Given the description of an element on the screen output the (x, y) to click on. 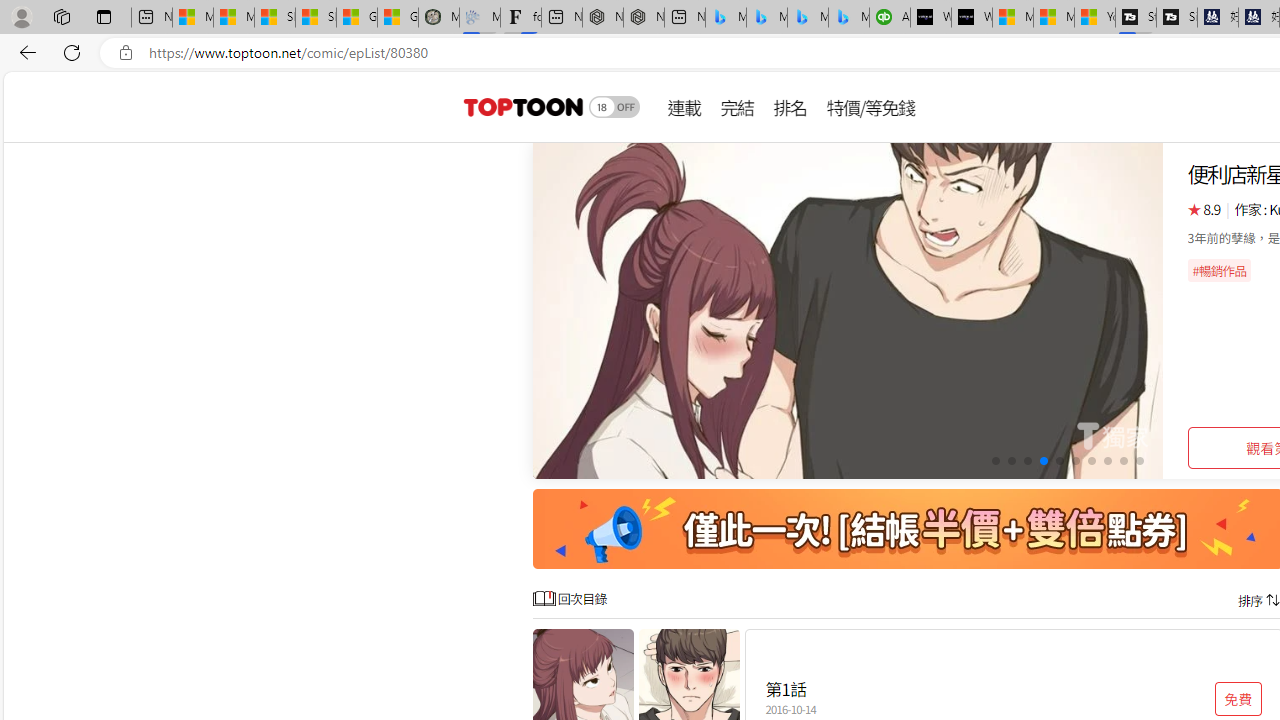
Class: swiper-slide swiper-slide-prev (847, 310)
Go to slide 9 (1122, 461)
Class: swiper-slide (847, 310)
Go to slide 10 (1139, 461)
Accounting Software for Accountants, CPAs and Bookkeepers (890, 17)
Class: swiper-slide swiper-slide-active (847, 310)
Go to slide 6 (1075, 461)
